Given the description of an element on the screen output the (x, y) to click on. 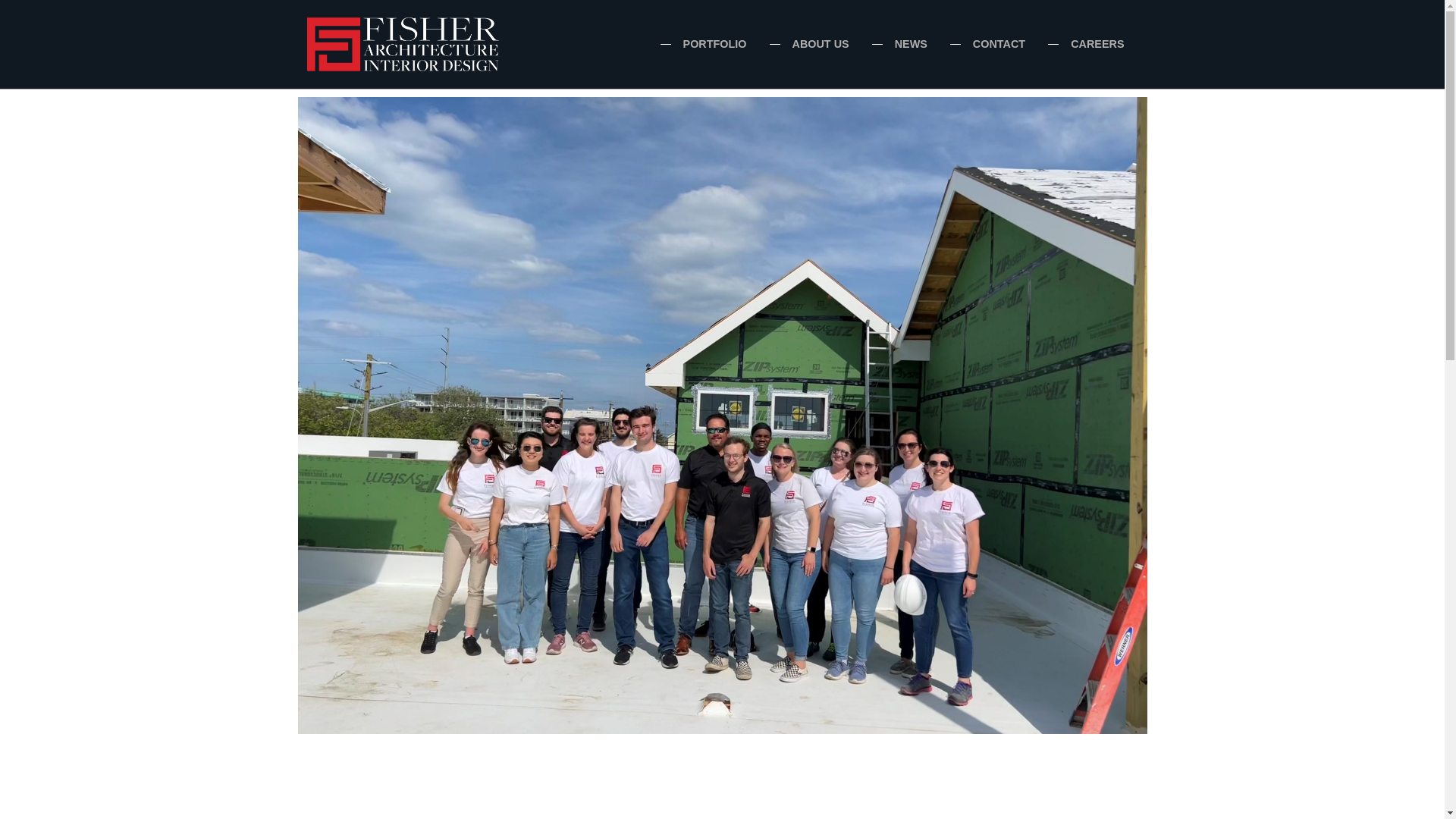
ABOUT US (820, 43)
CAREERS (1097, 43)
NEWS (911, 43)
CONTACT (998, 43)
PORTFOLIO (714, 43)
